Given the description of an element on the screen output the (x, y) to click on. 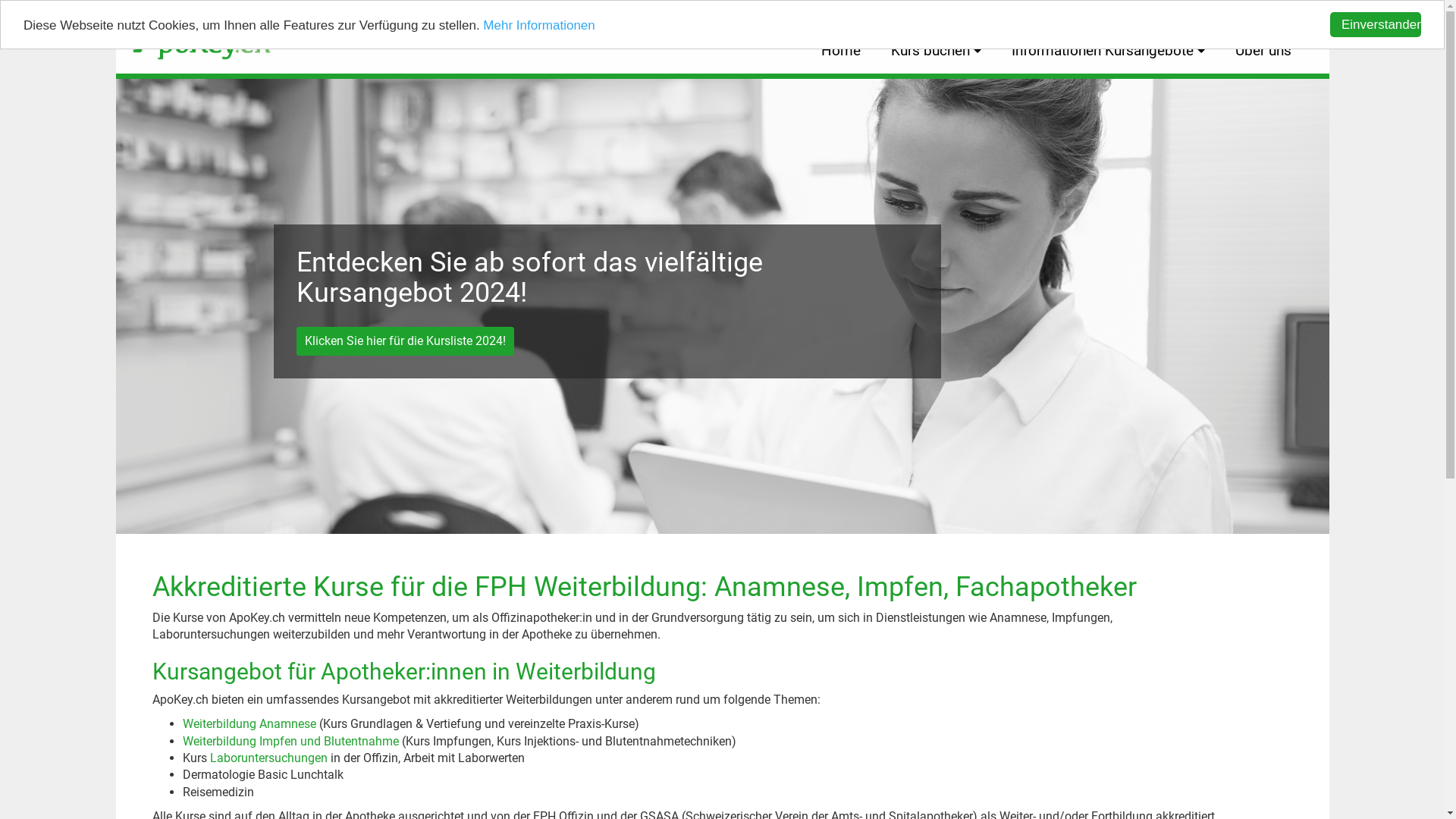
IT Element type: text (1291, 13)
Laboruntersuchungen Element type: text (267, 757)
Weiterbildung Impfen und Blutentnahme Element type: text (290, 741)
Login Element type: text (1208, 13)
logo Element type: hover (201, 35)
Einverstanden! Element type: text (1375, 24)
Kurs buchen Element type: text (935, 51)
Weiterbildung Anamnese Element type: text (248, 723)
FR Element type: text (1266, 13)
Home Element type: text (840, 51)
Mehr Informationen Element type: text (538, 25)
Informationen Kursangebote Element type: text (1108, 51)
Home  Element type: hover (193, 35)
DE Element type: text (1241, 13)
